Given the description of an element on the screen output the (x, y) to click on. 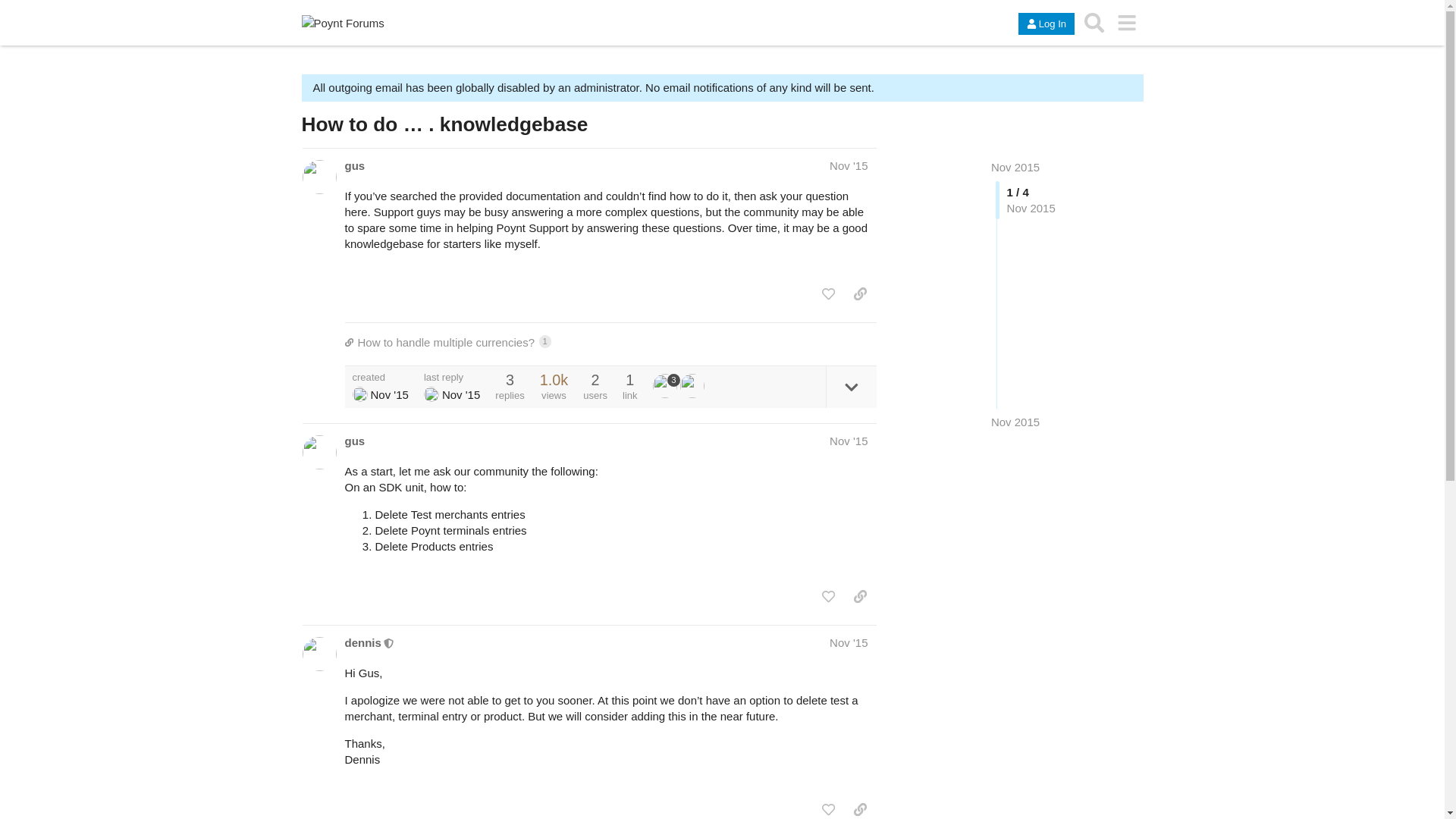
Nov '15 (848, 164)
Nov '15 (848, 440)
Nov 23, 2015 6:16 am (388, 394)
Gus Mayassi (359, 394)
expand topic details (850, 386)
1002 (553, 379)
Nov 2015 (1015, 421)
dennis (361, 642)
Nov 2015 (1015, 421)
Gus Mayassi (431, 394)
